Given the description of an element on the screen output the (x, y) to click on. 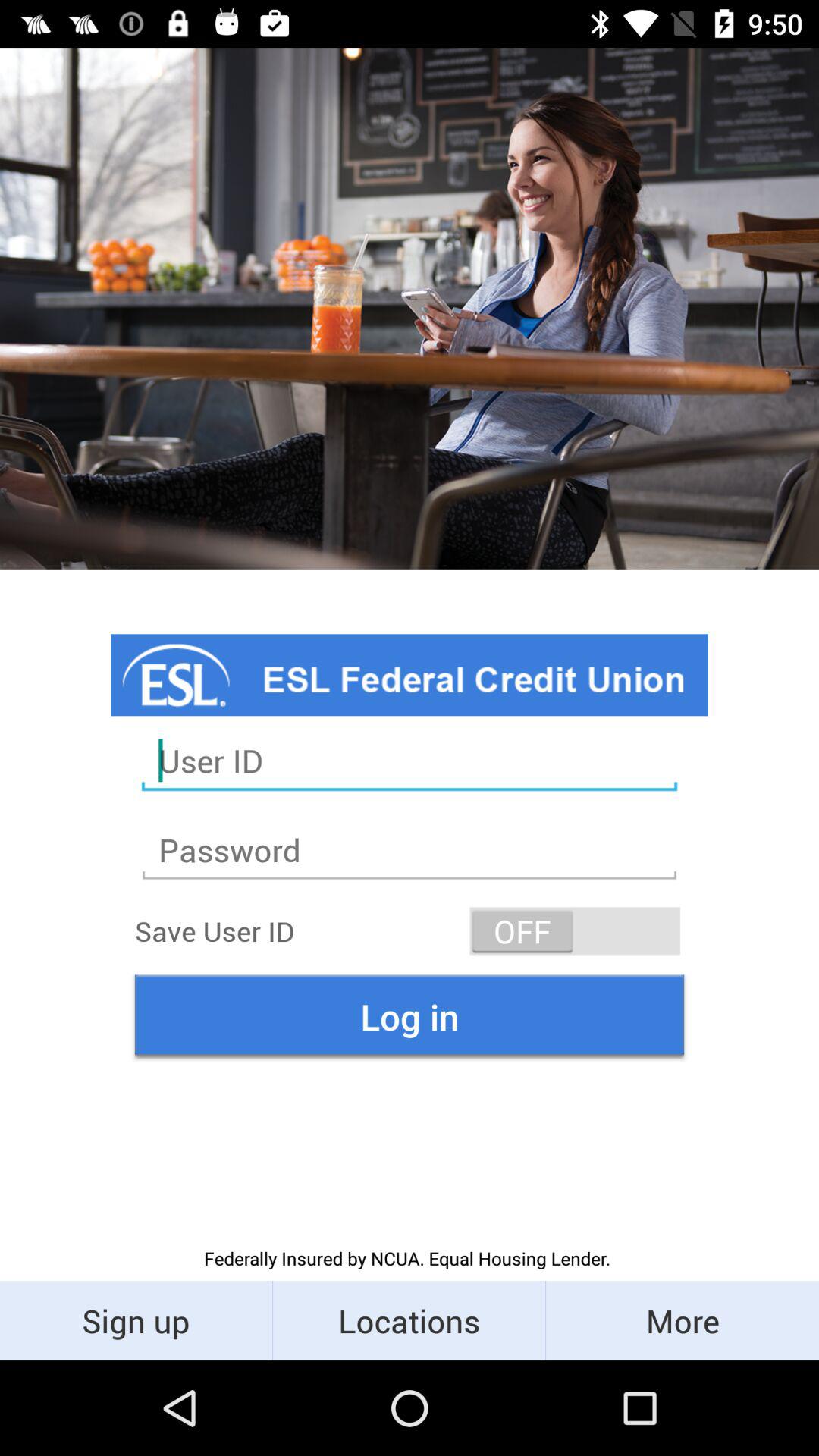
select the item above log in icon (574, 930)
